Given the description of an element on the screen output the (x, y) to click on. 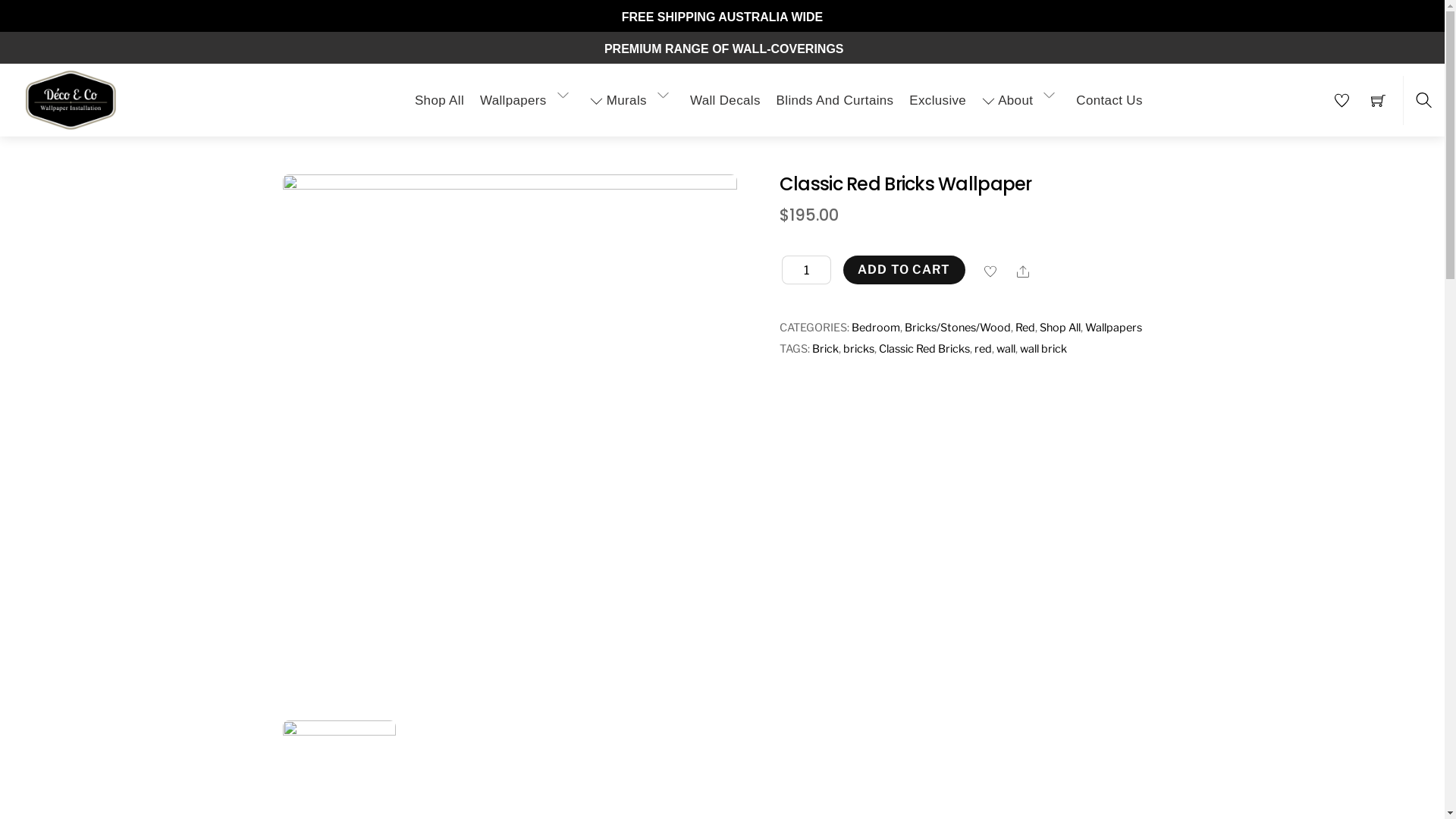
Bricks/Stones/Wood Element type: text (957, 327)
Red Element type: text (1025, 327)
Bedroom Element type: text (875, 327)
Brick Element type: text (825, 348)
 PREMIUM RANGE OF WALL-COVERINGS Element type: text (721, 114)
Blinds And Curtains Element type: text (834, 94)
ADD TO CART Element type: text (904, 269)
 PREMIUM RANGE OF WALL-COVERINGS Element type: text (721, 65)
bricks Element type: text (858, 348)
About Element type: text (1020, 94)
Wallpapers Element type: text (1113, 327)
Contact Us Element type: text (1109, 94)
Wall Decals Element type: text (724, 94)
red Element type: text (982, 348)
wall Element type: text (1005, 348)
 PREMIUM RANGE OF WALL-COVERINGS Element type: text (721, 48)
Shop All Element type: text (439, 94)
Exclusive Element type: text (936, 94)
wall brick Element type: text (1042, 348)
Wallpaper-Kemra-ClassicRedBrick-3 Element type: hover (509, 447)
Wallpapers Element type: text (526, 94)
Murals Element type: text (631, 94)
Classic Red Bricks Element type: text (923, 348)
Shop All Element type: text (1059, 327)
Deco-Wallpaper-Logo Element type: hover (70, 99)
